Given the description of an element on the screen output the (x, y) to click on. 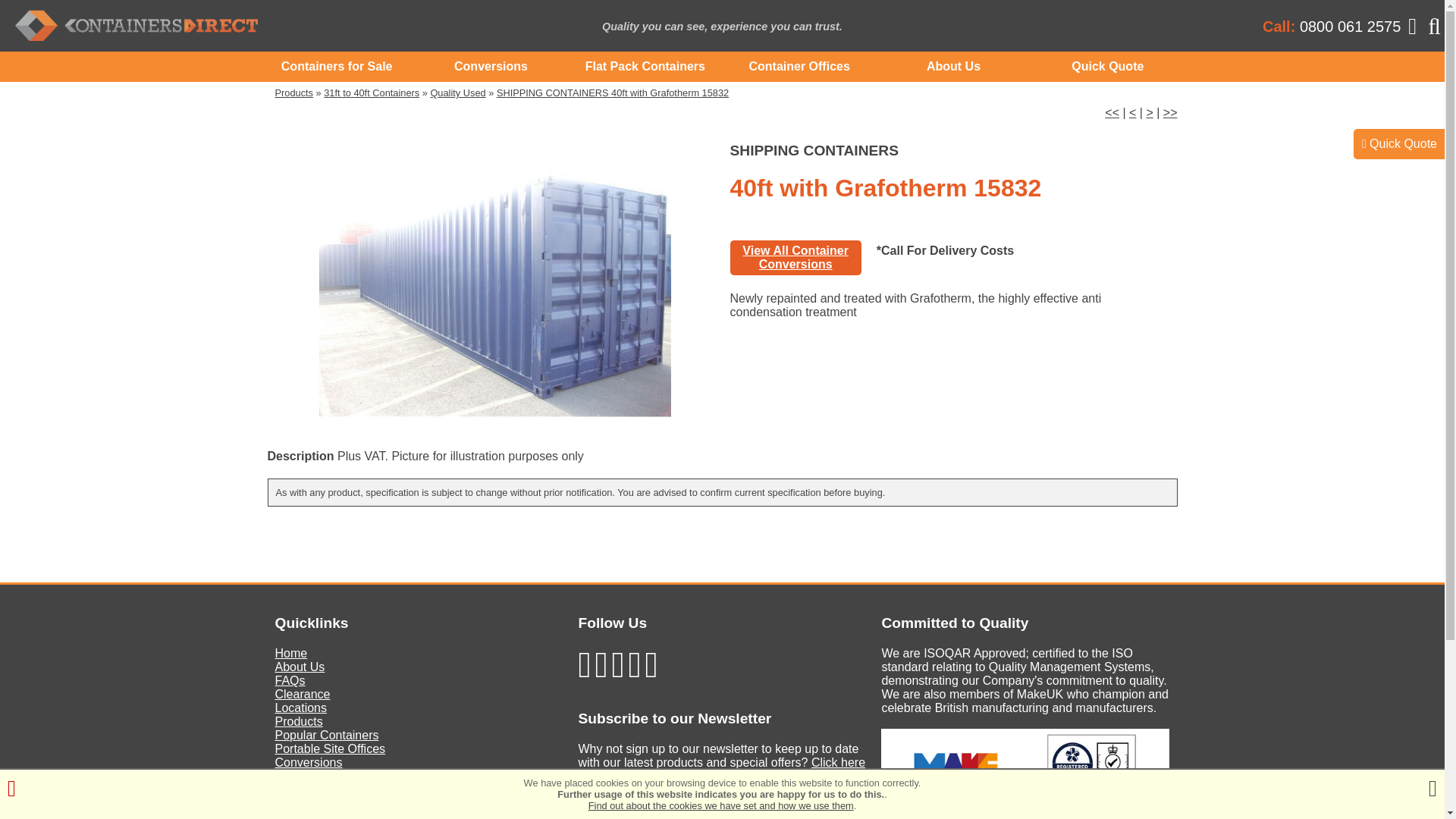
View All Container Conversions (795, 257)
Flat Pack Containers For Sale (644, 66)
Conversions (490, 66)
Containers Direct home page (240, 25)
SHIPPING CONTAINERS 40ft with Grafotherm 15832 (612, 92)
For all enquires call 0800 061 2575  (1350, 26)
Quick Quote (1107, 66)
Containers for Sale (336, 66)
Flat Pack Containers (644, 66)
Container Offices (799, 66)
